Given the description of an element on the screen output the (x, y) to click on. 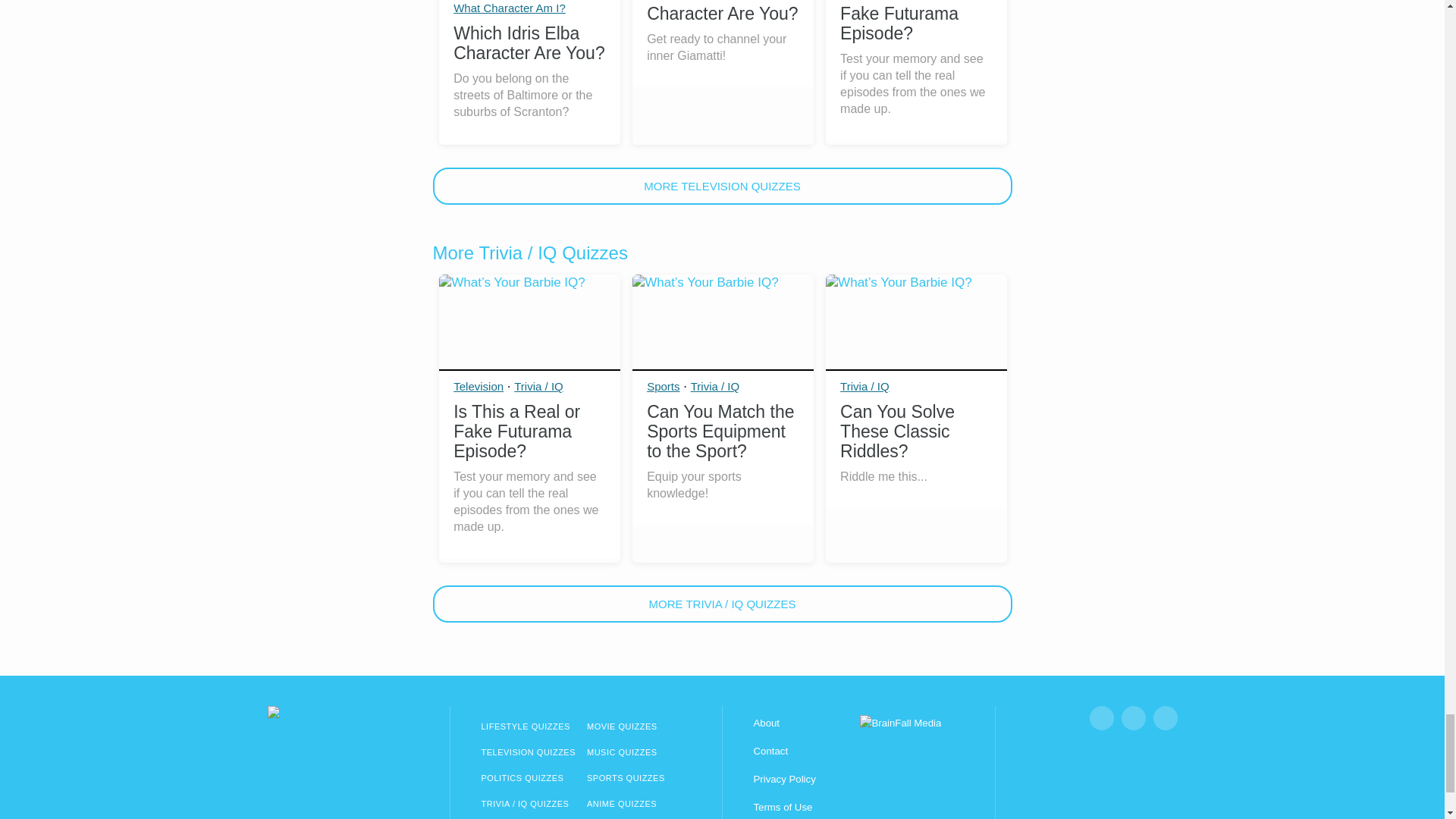
Like us on Facebook! (1101, 717)
Follow us on Twitter! (1164, 717)
Follow us on Instagram! (1132, 717)
